Given the description of an element on the screen output the (x, y) to click on. 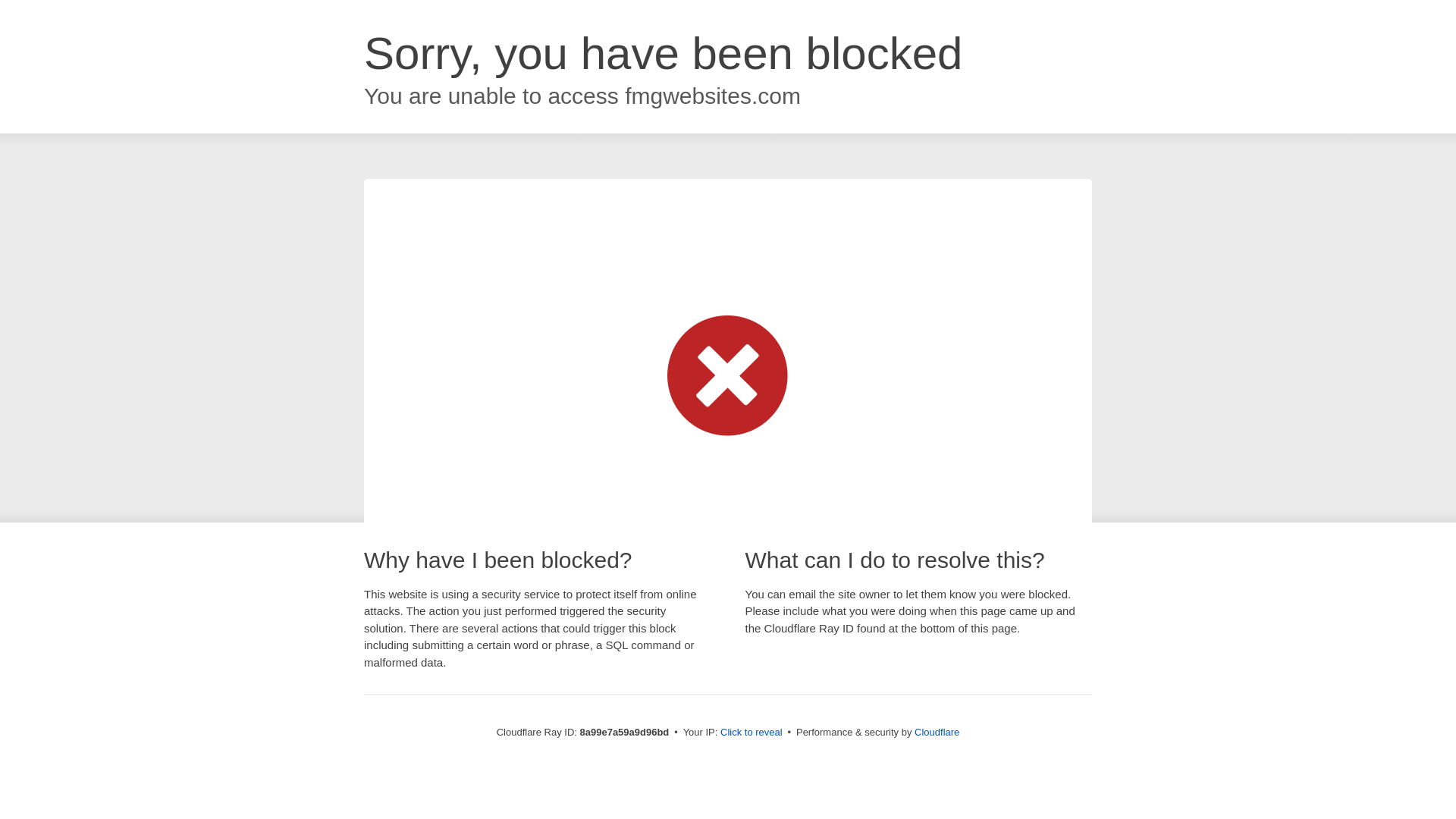
Click to reveal (751, 732)
Cloudflare (936, 731)
